Given the description of an element on the screen output the (x, y) to click on. 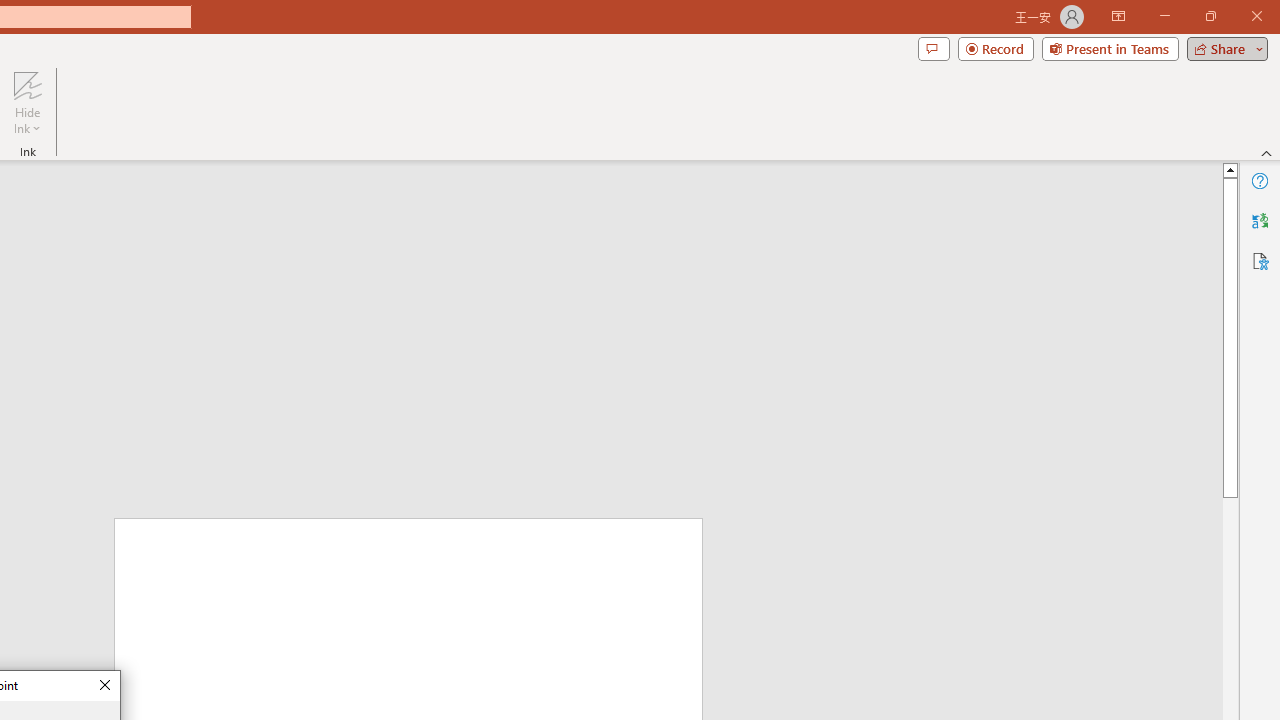
Ribbon Display Options (1118, 16)
